Given the description of an element on the screen output the (x, y) to click on. 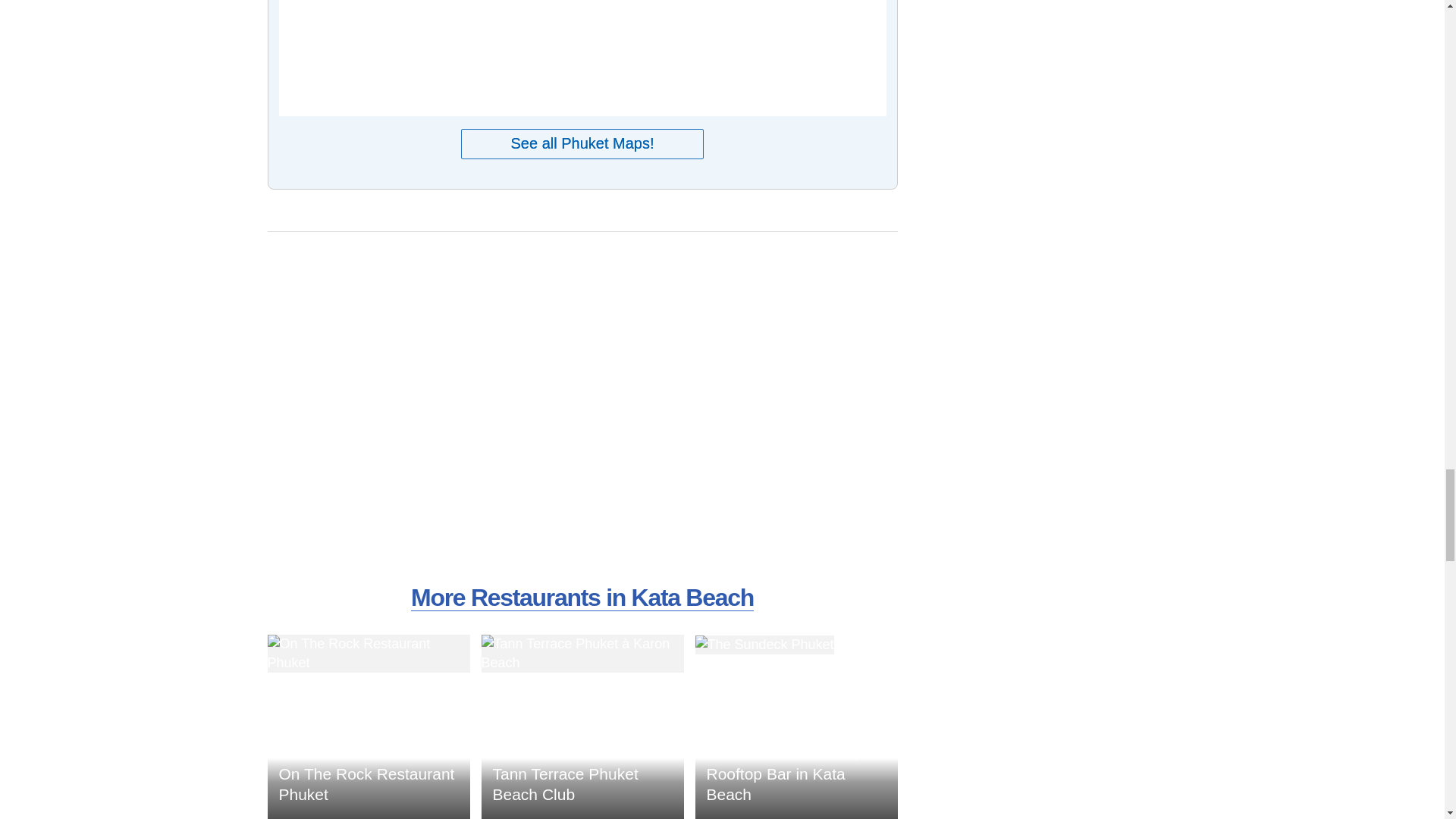
Laem Sai Cup Cafe in Kata Beach 4 (581, 653)
Laem Sai Cup Cafe in Kata Beach 5 (763, 644)
Laem Sai Cup Cafe in Kata Beach 3 (367, 653)
See all Phuket Maps! (582, 143)
